Given the description of an element on the screen output the (x, y) to click on. 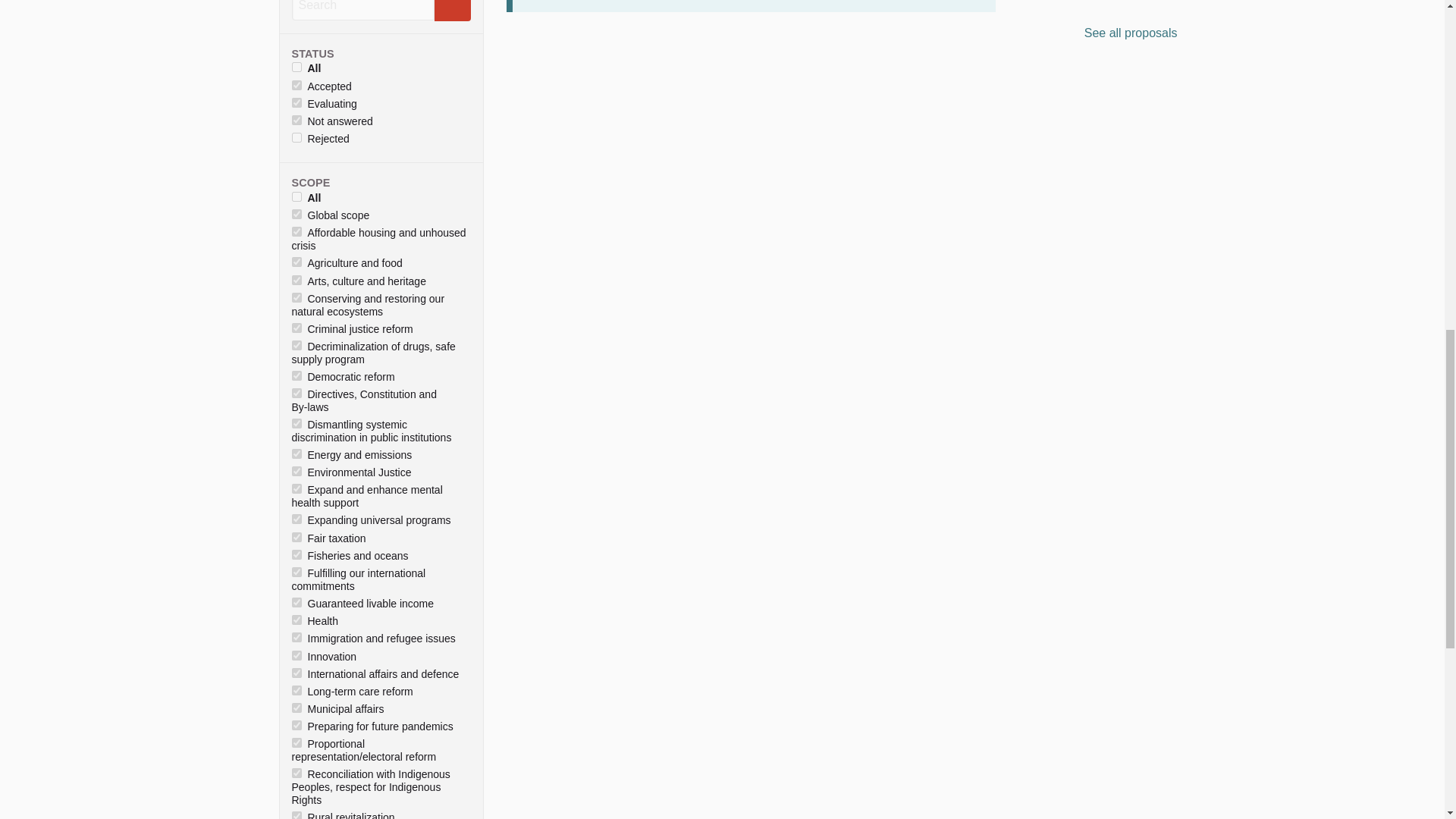
30 (296, 261)
33 (296, 327)
chevron-bottom (455, 401)
36 (296, 423)
32 (296, 297)
Search (452, 4)
Search (451, 10)
29 (296, 231)
73 (296, 393)
Search (362, 10)
